Given the description of an element on the screen output the (x, y) to click on. 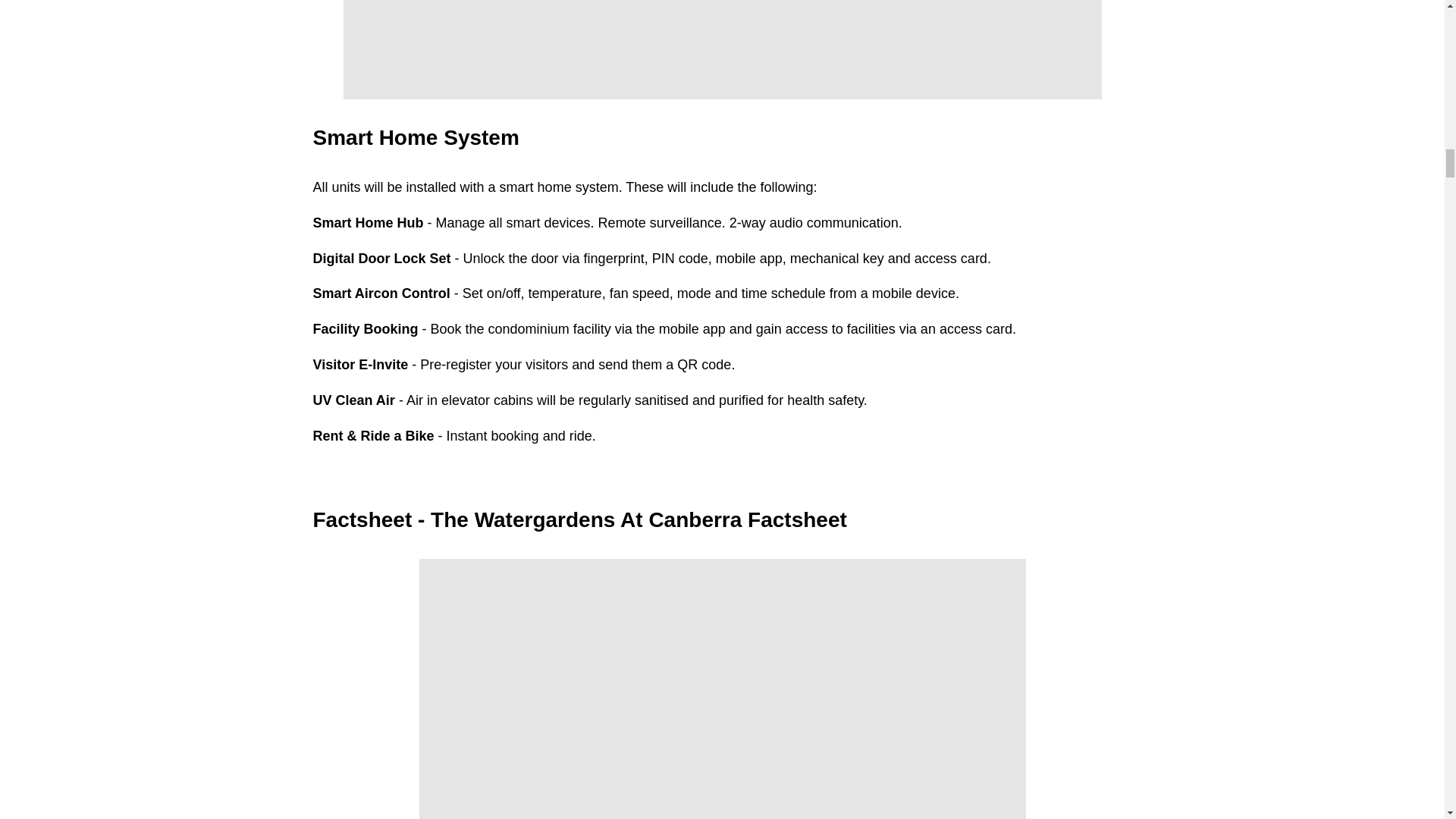
The Watergardens At Canberra Unit Selection (721, 49)
